Given the description of an element on the screen output the (x, y) to click on. 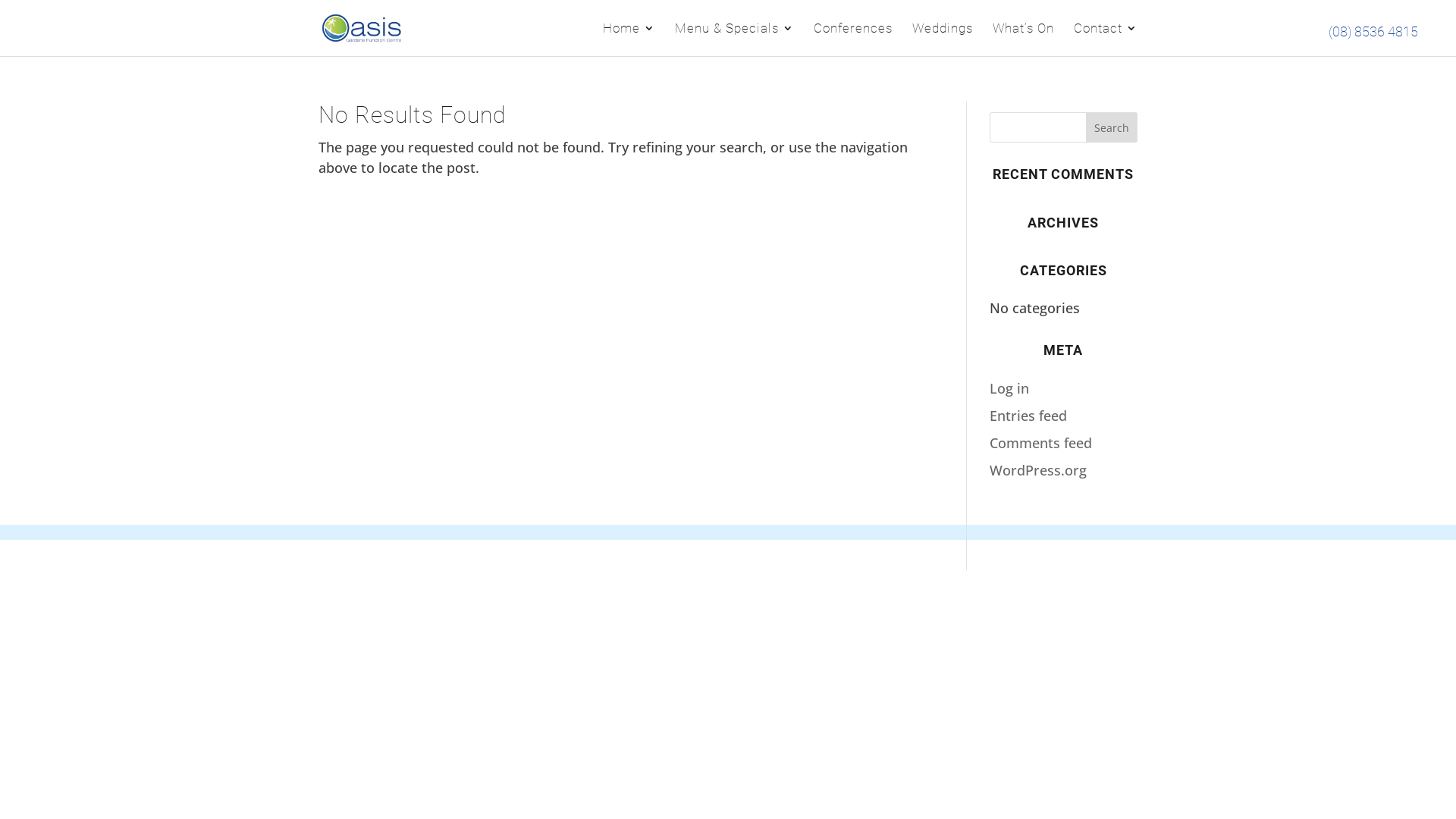
Search Element type: text (1111, 127)
WordPress.org Element type: text (1037, 470)
Menu & Specials Element type: text (733, 39)
Weddings Element type: text (942, 39)
Log in Element type: text (1009, 388)
Entries feed Element type: text (1027, 415)
(08) 8536 4815 Element type: text (1373, 31)
Home Element type: text (628, 39)
Contact Element type: text (1105, 39)
Comments feed Element type: text (1040, 442)
Conferences Element type: text (852, 39)
